Given the description of an element on the screen output the (x, y) to click on. 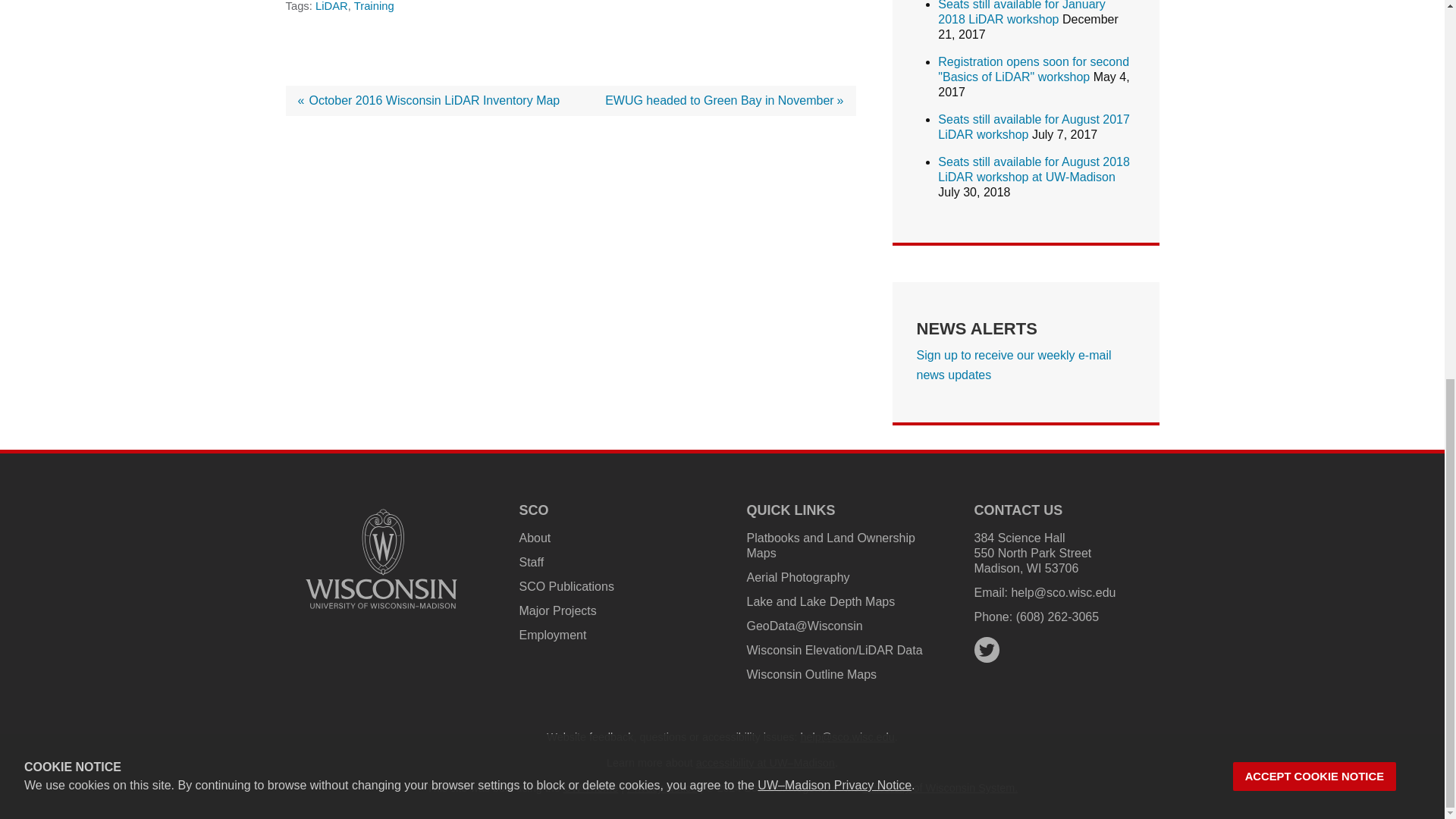
twitter (986, 650)
University logo that links to main university website (380, 558)
ACCEPT COOKIE NOTICE (1314, 72)
